Given the description of an element on the screen output the (x, y) to click on. 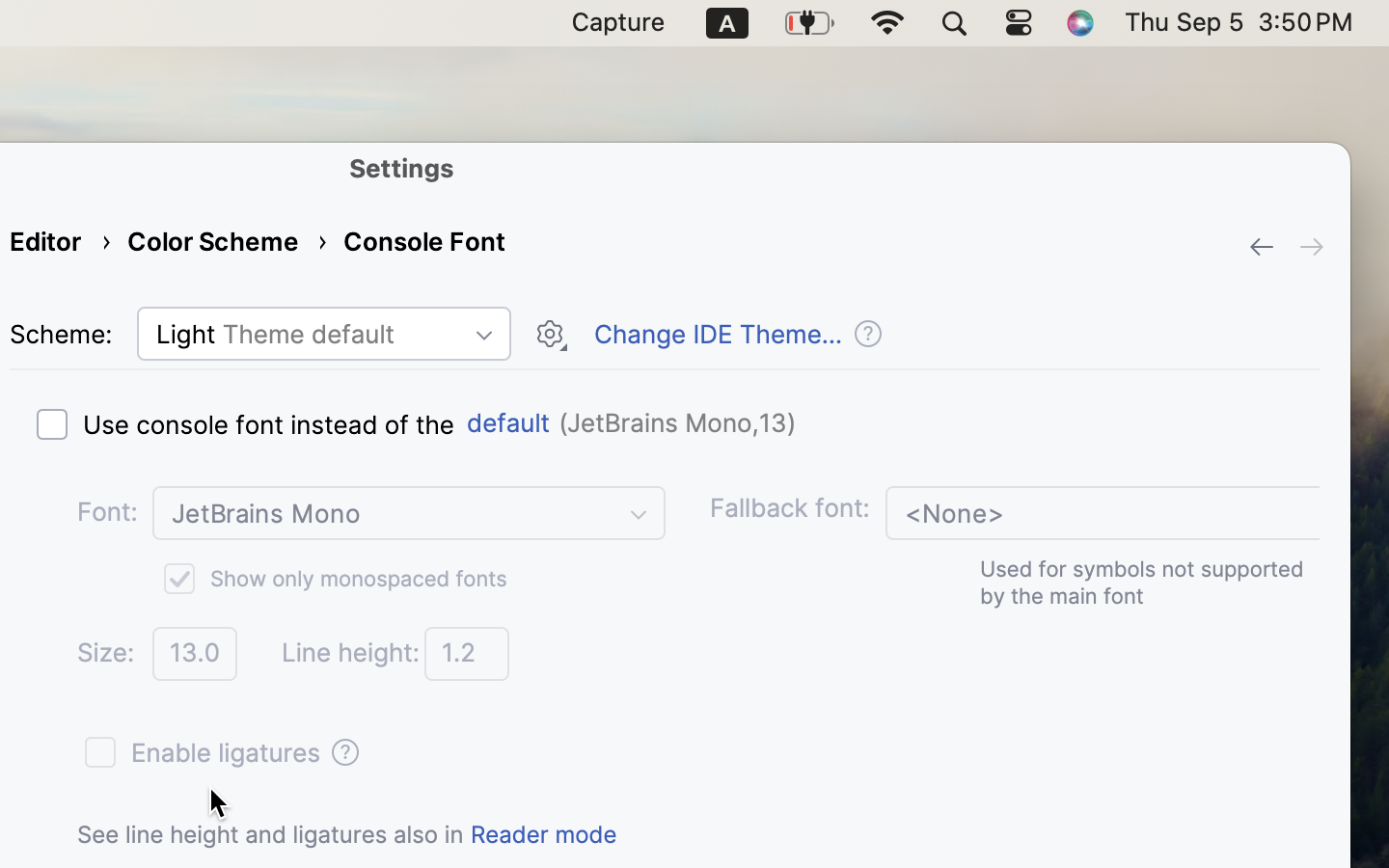
See line height and ligatures also in Reader mode Element type: AXTextField (347, 833)
